Given the description of an element on the screen output the (x, y) to click on. 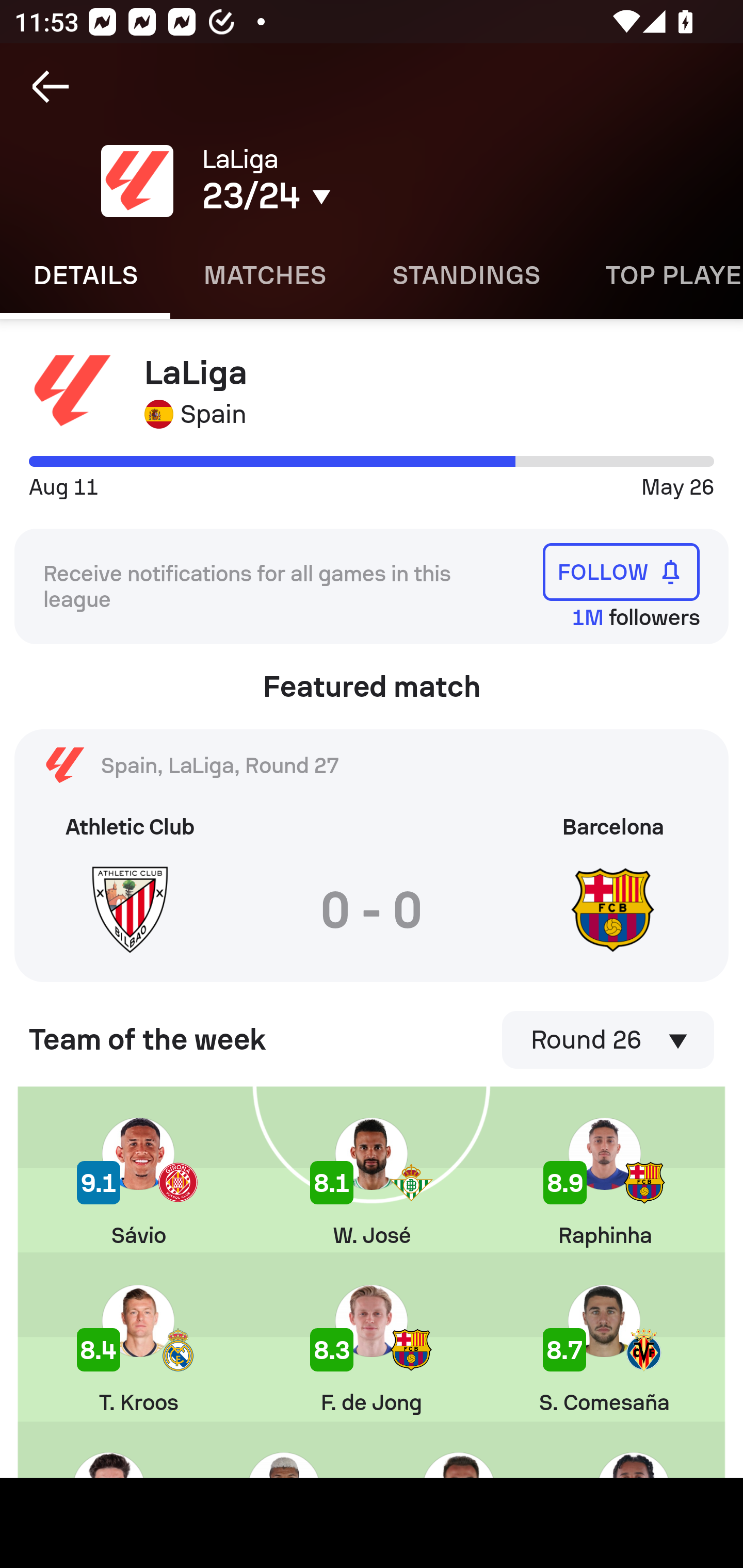
Navigate up (50, 86)
23/24 (350, 195)
Matches MATCHES (264, 275)
Standings STANDINGS (465, 275)
Top players TOP PLAYERS (657, 275)
FOLLOW (621, 571)
Round 26 (608, 1040)
Sávio (137, 1182)
W. José (371, 1182)
Raphinha (604, 1182)
T. Kroos (137, 1349)
F. de Jong (371, 1349)
S. Comesaña (604, 1349)
